Given the description of an element on the screen output the (x, y) to click on. 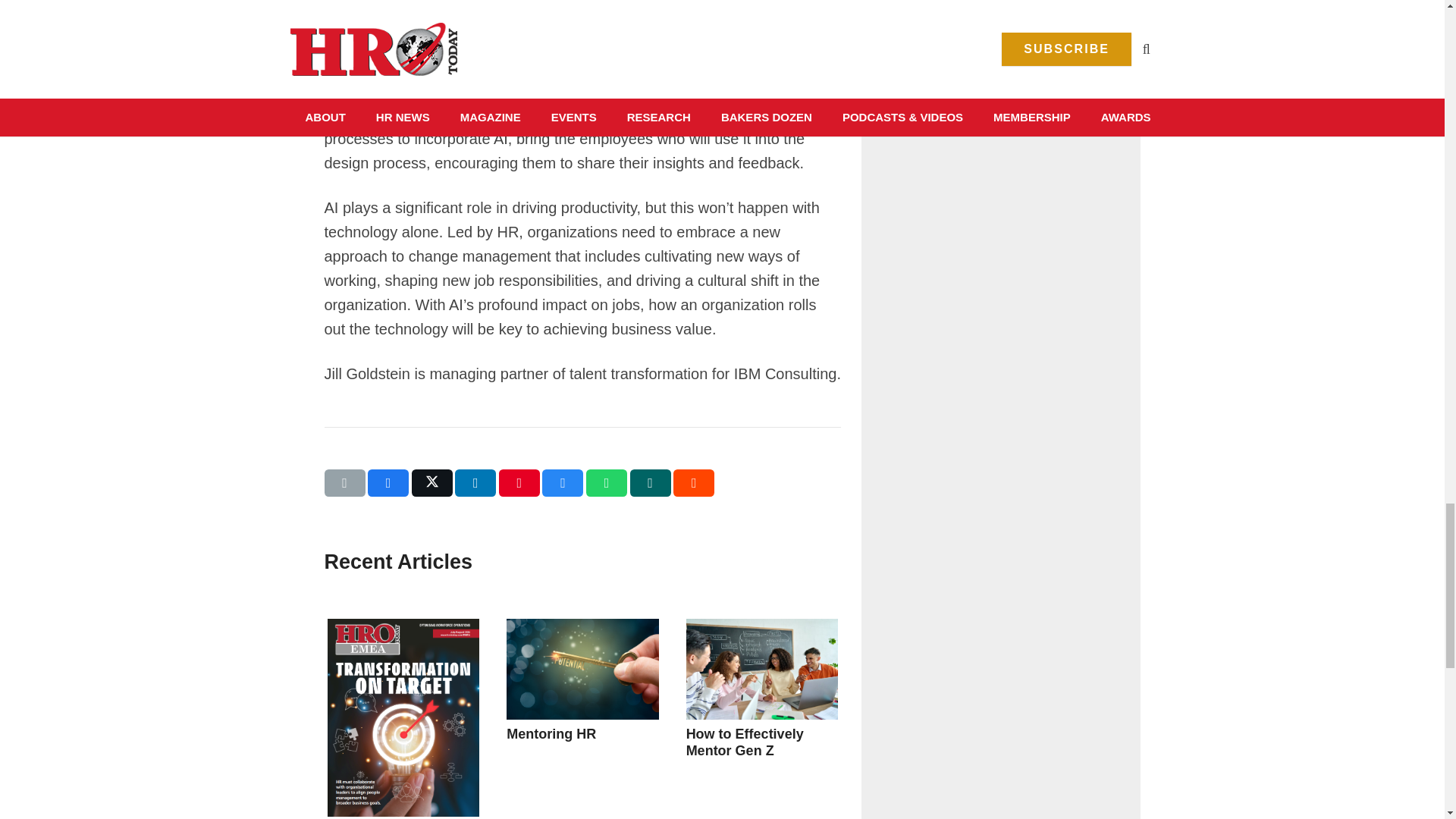
Pin this (519, 482)
Email this (344, 482)
Tweet this (432, 482)
Share this (606, 482)
Share this (475, 482)
Share this (650, 482)
Share this (388, 482)
Share this (562, 482)
Share this (693, 482)
